Given the description of an element on the screen output the (x, y) to click on. 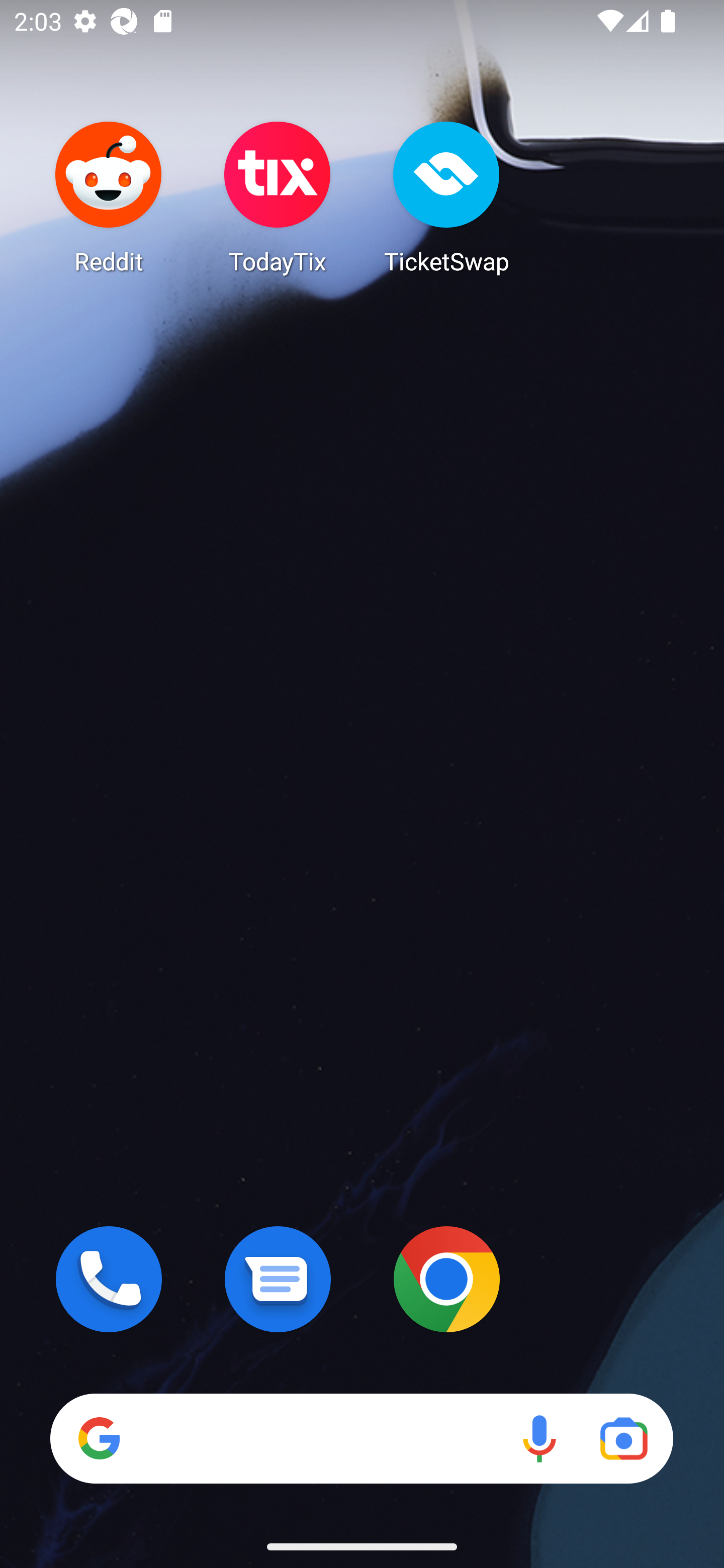
Reddit (108, 196)
TodayTix (277, 196)
TicketSwap (445, 196)
Phone (108, 1279)
Messages (277, 1279)
Chrome (446, 1279)
Voice search (539, 1438)
Google Lens (623, 1438)
